Given the description of an element on the screen output the (x, y) to click on. 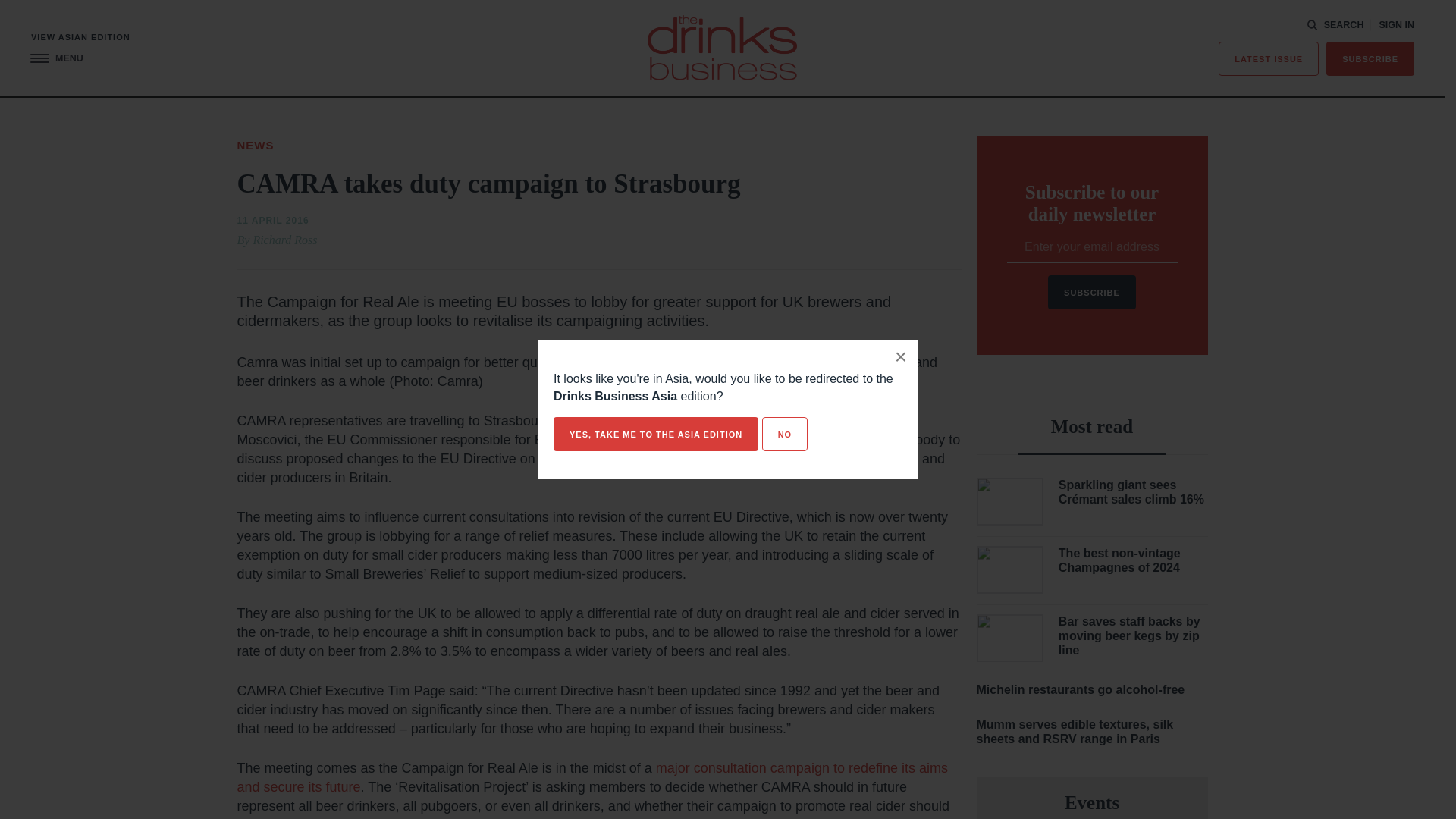
YES, TAKE ME TO THE ASIA EDITION (655, 433)
SIGN IN (1395, 25)
NO (784, 433)
The Drinks Business (721, 47)
MENU (56, 58)
LATEST ISSUE (1268, 58)
VIEW ASIAN EDITION (80, 37)
SEARCH (1334, 24)
SUBSCRIBE (1369, 58)
